Given the description of an element on the screen output the (x, y) to click on. 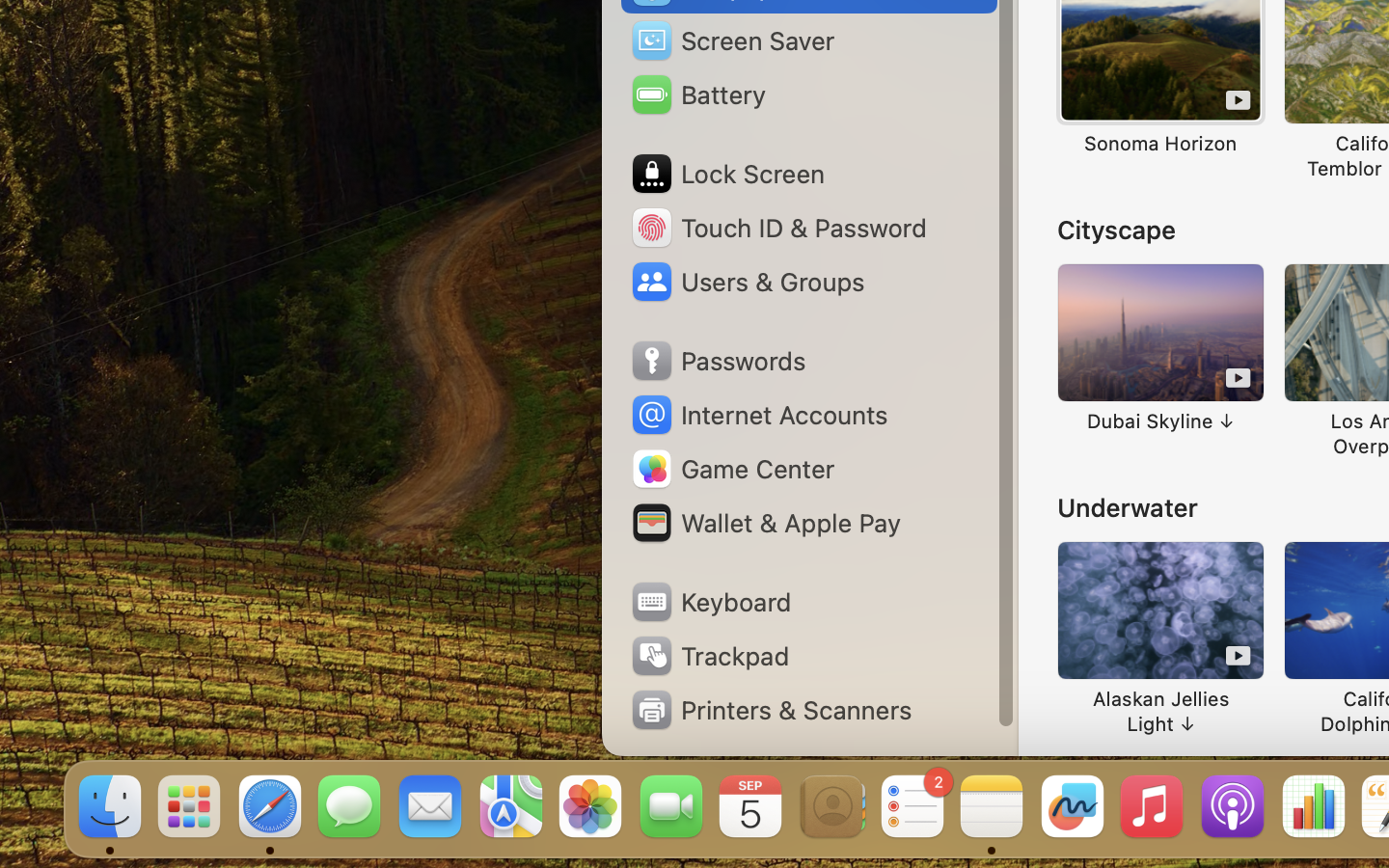
Internet Accounts Element type: AXStaticText (757, 414)
Passwords Element type: AXStaticText (717, 360)
Printers & Scanners Element type: AXStaticText (770, 709)
Battery Element type: AXStaticText (696, 94)
